Given the description of an element on the screen output the (x, y) to click on. 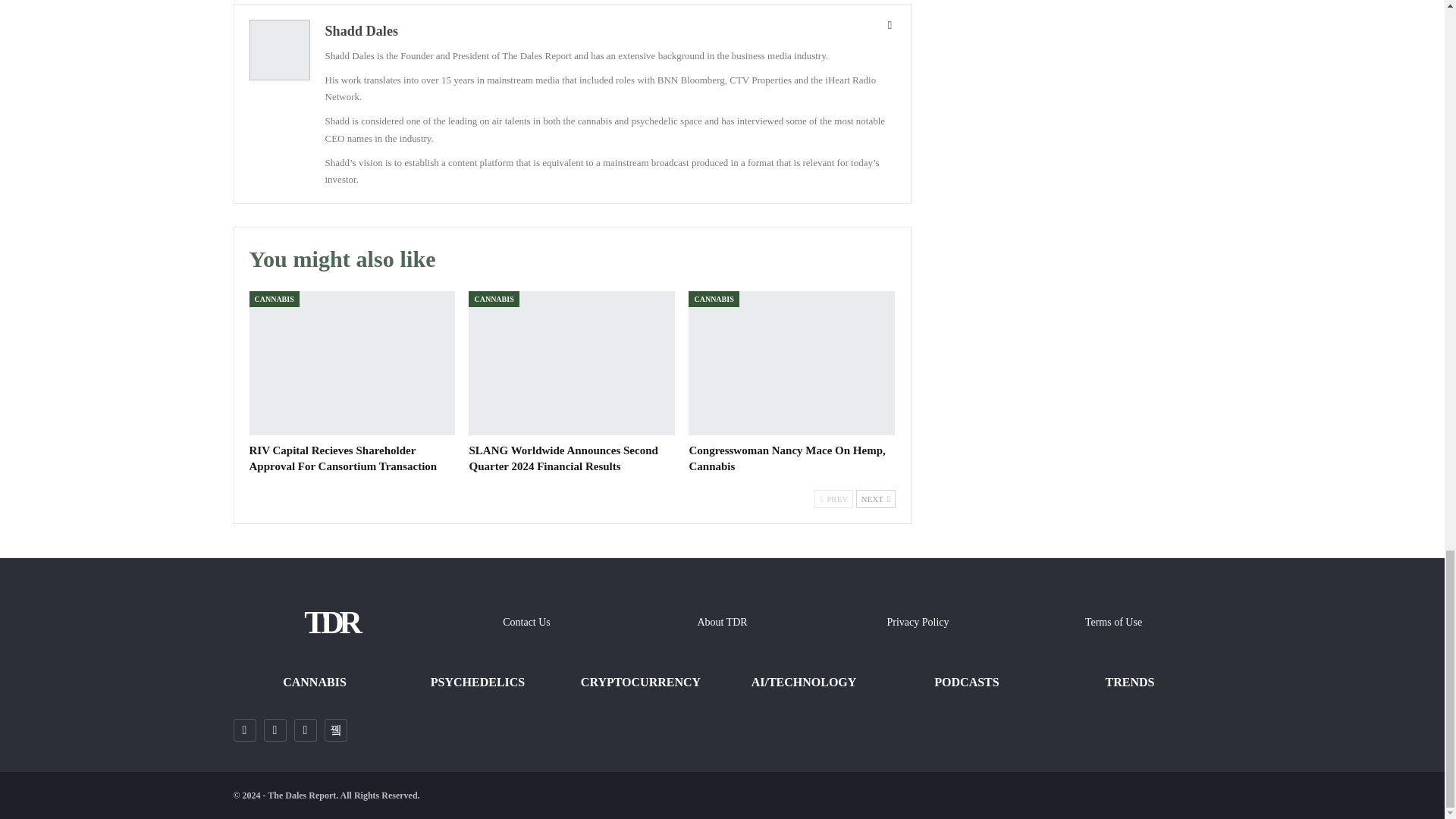
Congresswoman Nancy Mace On Hemp, Cannabis (791, 362)
Congresswoman Nancy Mace On Hemp, Cannabis (786, 458)
Previous (833, 498)
